Given the description of an element on the screen output the (x, y) to click on. 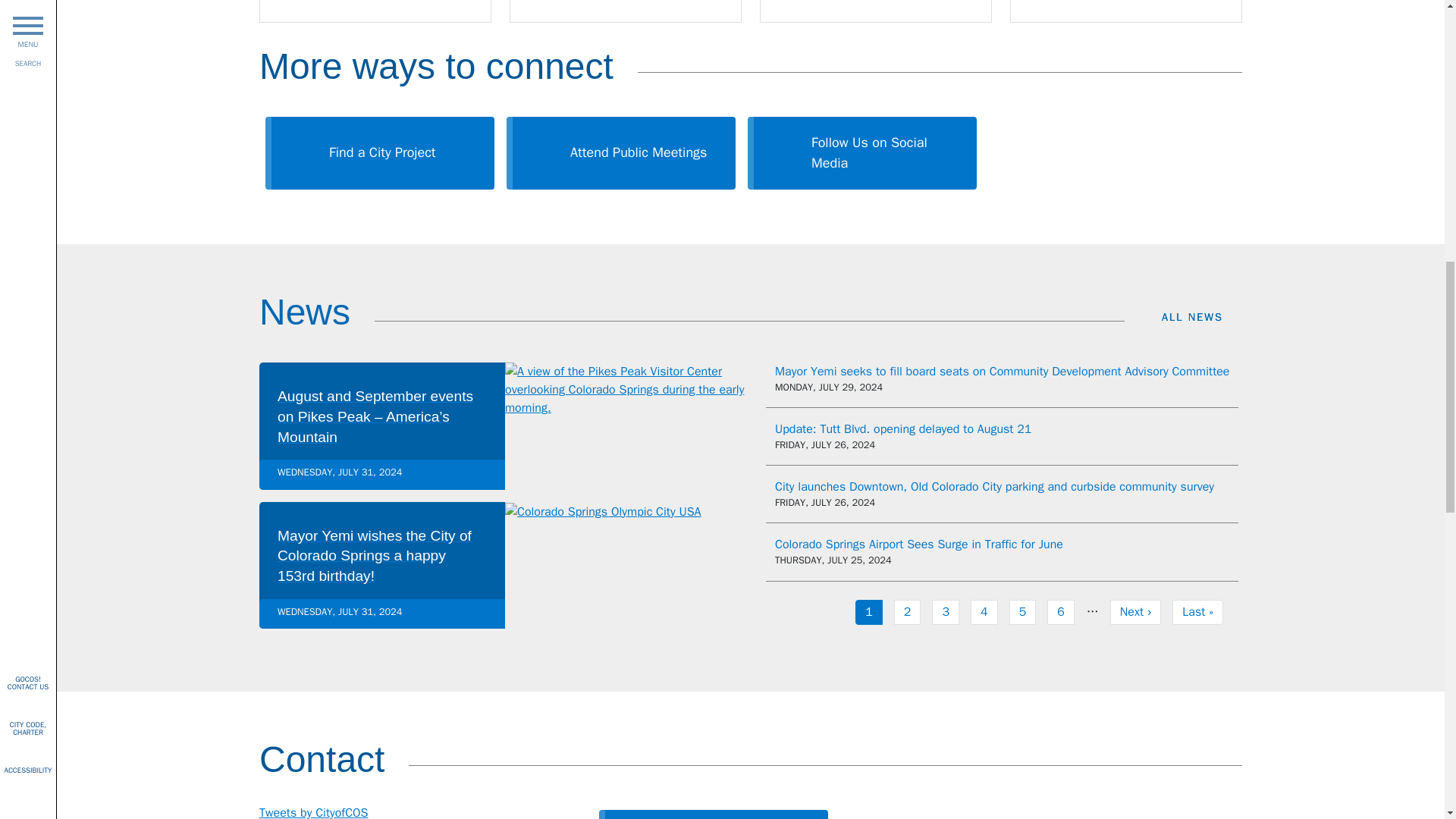
Go to page 6 (1060, 611)
ALL NEWS (1201, 317)
Go to page 5 (1022, 611)
Colorado Springs Airport Sees Surge in Traffic for June (869, 611)
Current page (1060, 611)
Tweets by CityofCOS (918, 544)
Follow Us on Social Media (869, 611)
Go to next page (313, 812)
Go to page 4 (861, 152)
Go to last page (1134, 611)
